Given the description of an element on the screen output the (x, y) to click on. 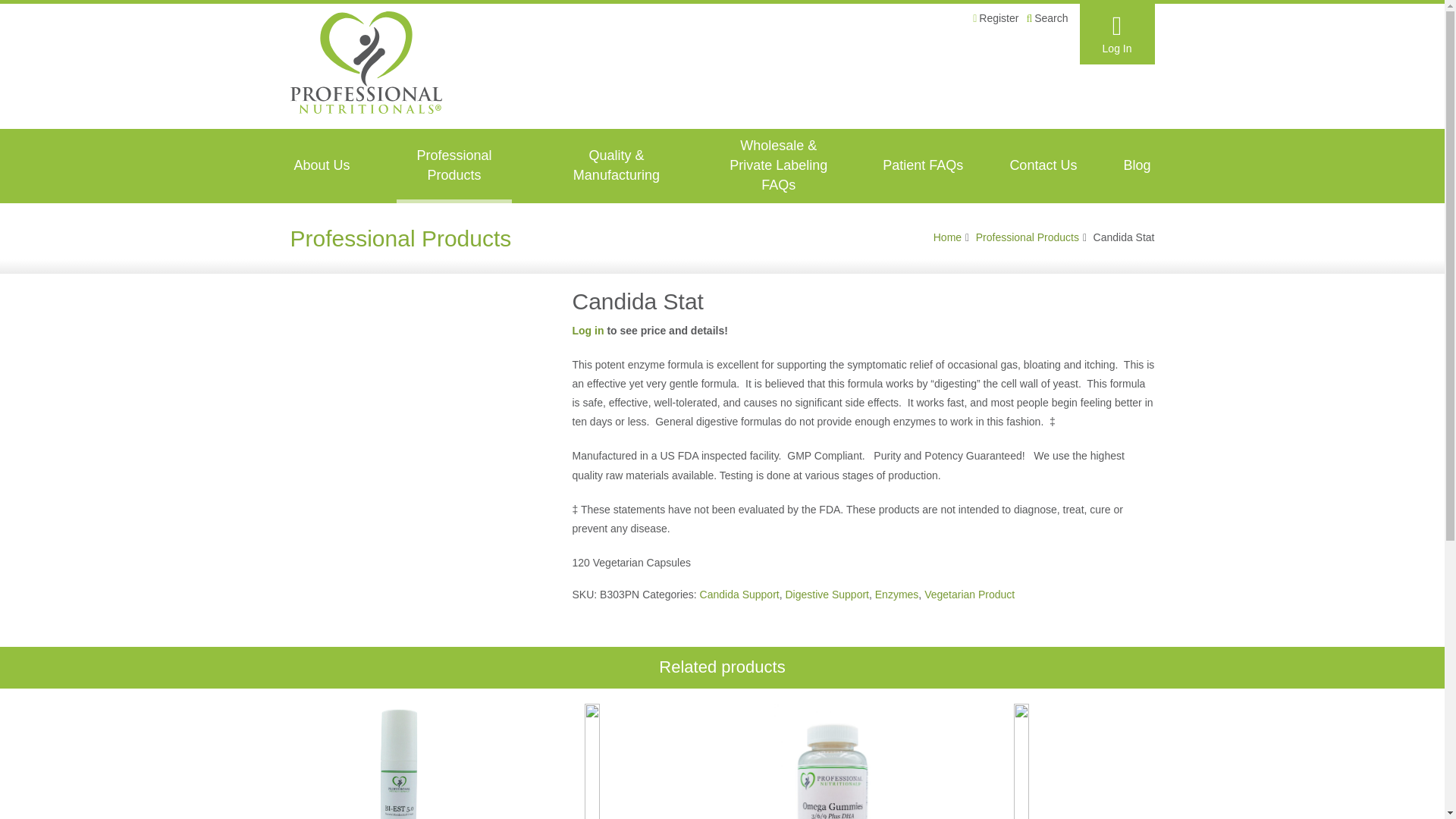
Register (994, 18)
Contact Us (1043, 165)
Log in (588, 330)
Enzymes (896, 594)
Professional Products (1026, 236)
Patient FAQs (922, 165)
Pro 25 Cream (614, 761)
Log In (1117, 34)
Methyl B12 Plus Arginine Cream (1046, 761)
Candida Support (739, 594)
Home (946, 236)
Digestive Support (826, 594)
Vegetarian Product (969, 594)
Search (1046, 18)
Bi EST 5.0 Cream (397, 761)
